Given the description of an element on the screen output the (x, y) to click on. 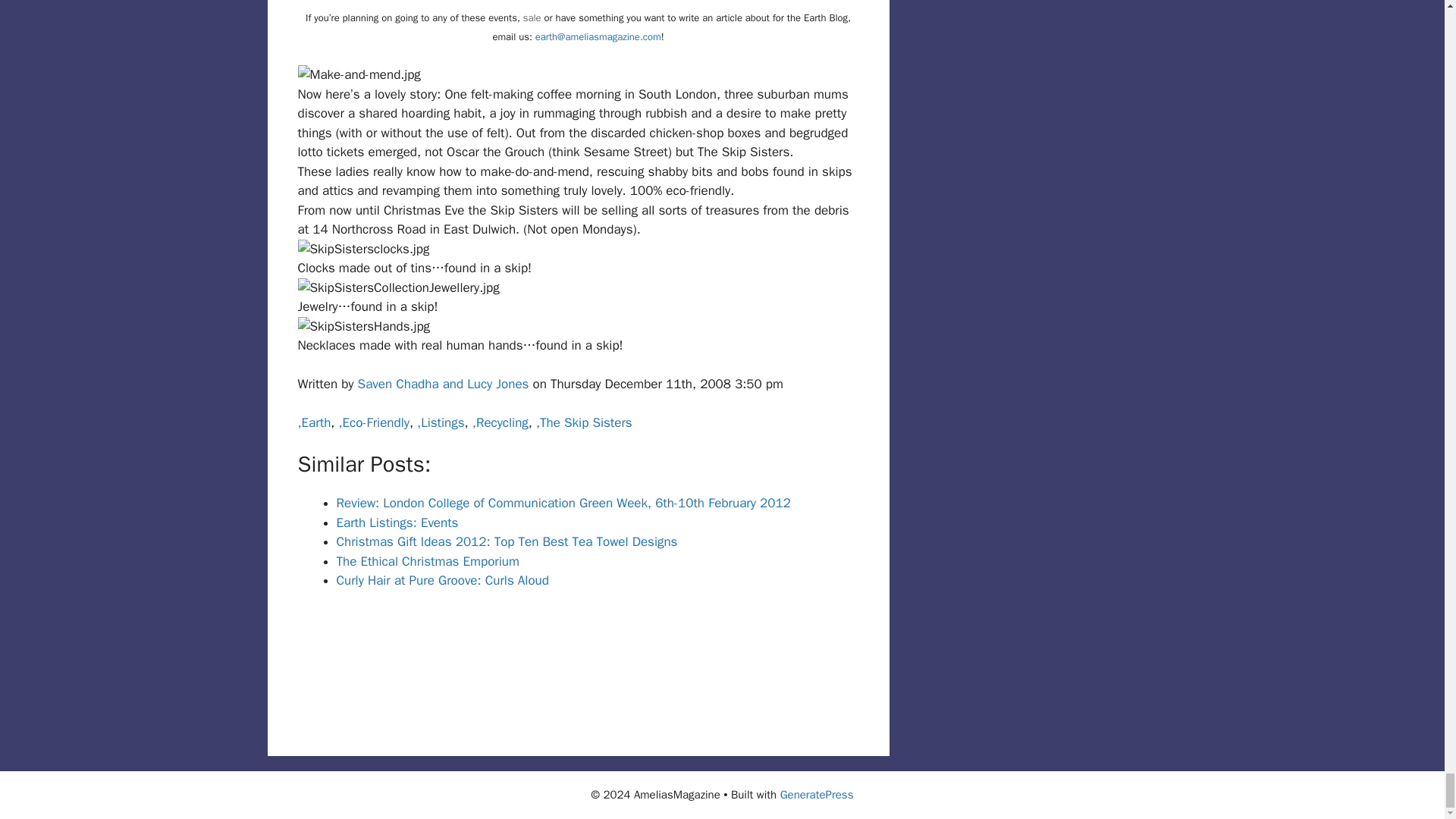
December 6, 2012 (507, 541)
November 20, 2008 (427, 561)
February 14, 2012 (563, 503)
November 25, 2008 (397, 522)
June 10, 2009 (442, 580)
